Given the description of an element on the screen output the (x, y) to click on. 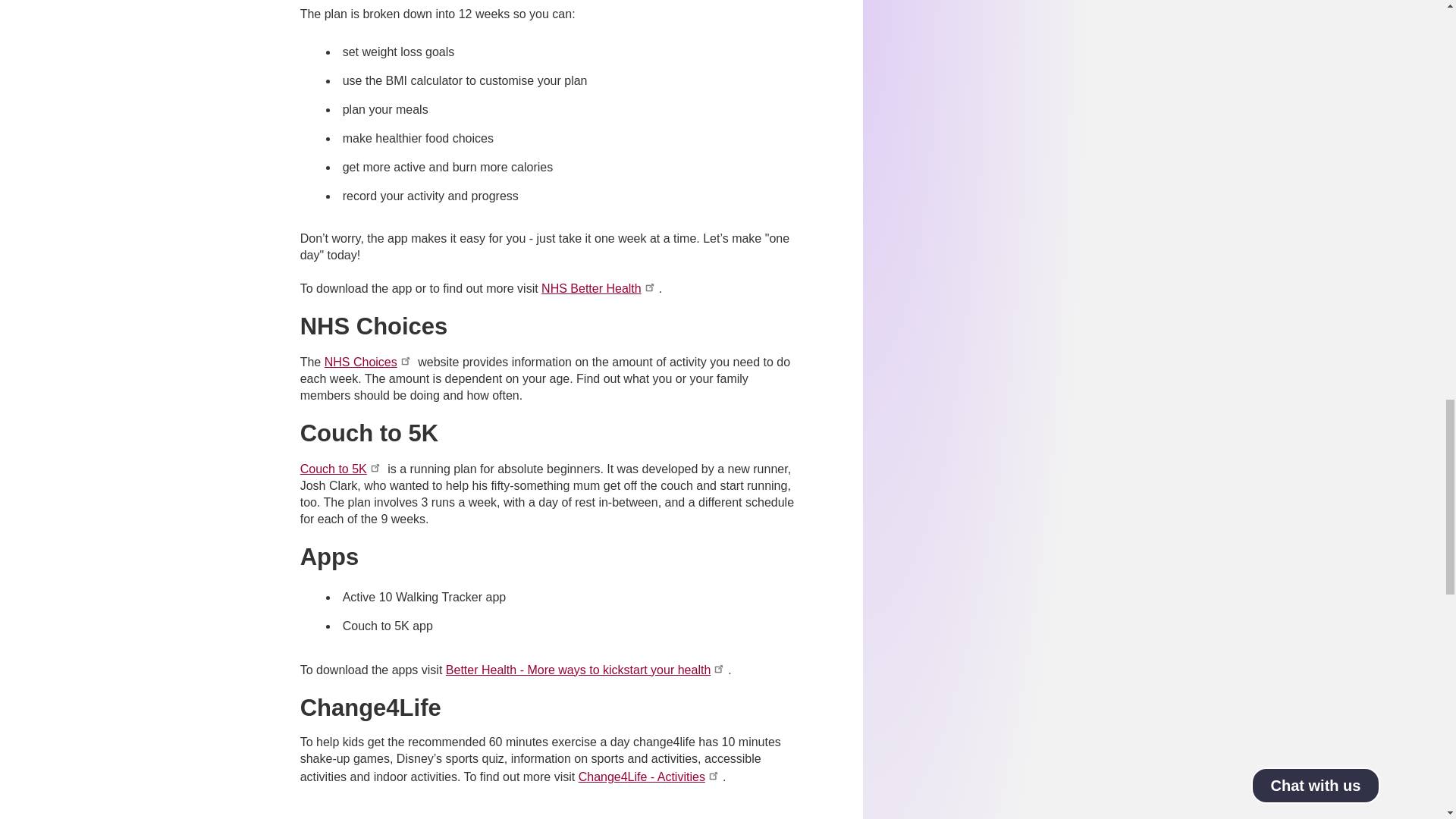
Visit One You - Our Apps (586, 669)
YouTube video player (548, 813)
